Given the description of an element on the screen output the (x, y) to click on. 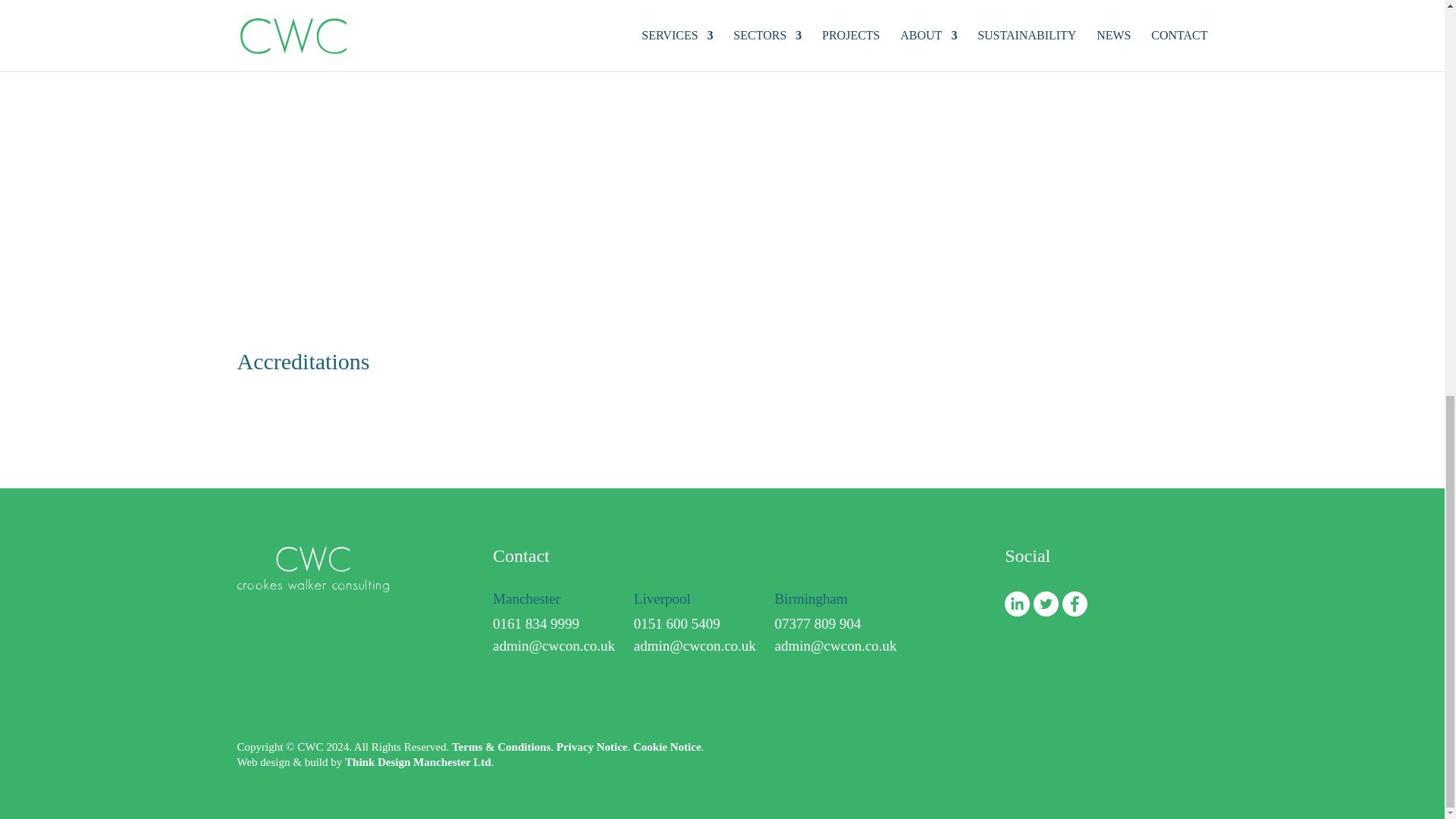
0161 834 9999 (536, 623)
07377 809 904 (817, 623)
0151 600 5409 (676, 623)
